Given the description of an element on the screen output the (x, y) to click on. 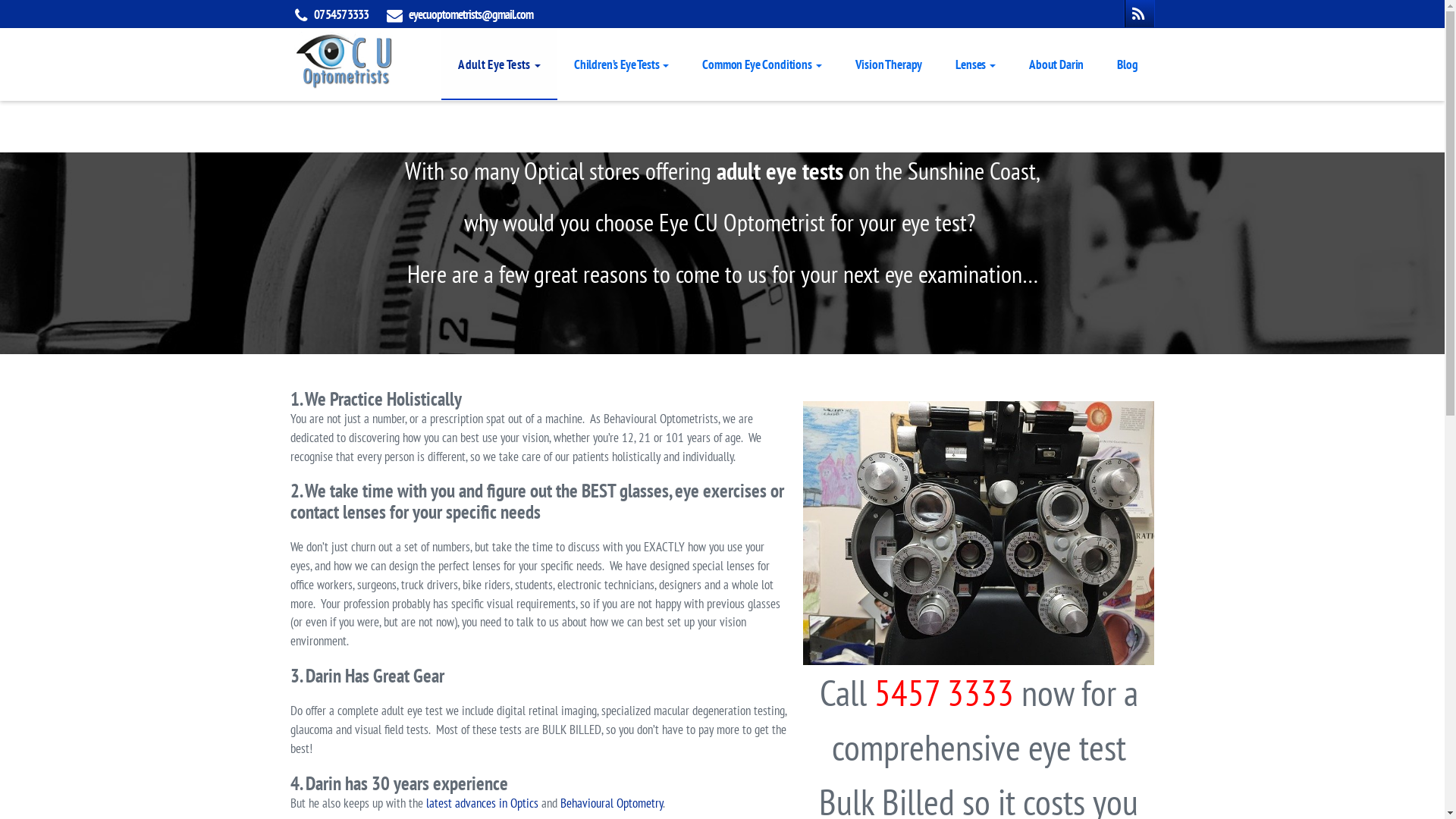
Adult Eye Tests Element type: text (498, 64)
Blog Element type: text (1127, 64)
eyecuoptometrists@gmail.com Element type: text (469, 14)
Eye CU Optometrist Element type: hover (343, 57)
Lenses Element type: text (975, 64)
Vision Therapy Element type: text (888, 64)
About Darin Element type: text (1056, 64)
Behavioural Optometry Element type: text (610, 802)
Common Eye Conditions Element type: text (761, 64)
07 5457 3333 Element type: text (340, 14)
latest advances in Optics Element type: text (482, 802)
